Given the description of an element on the screen output the (x, y) to click on. 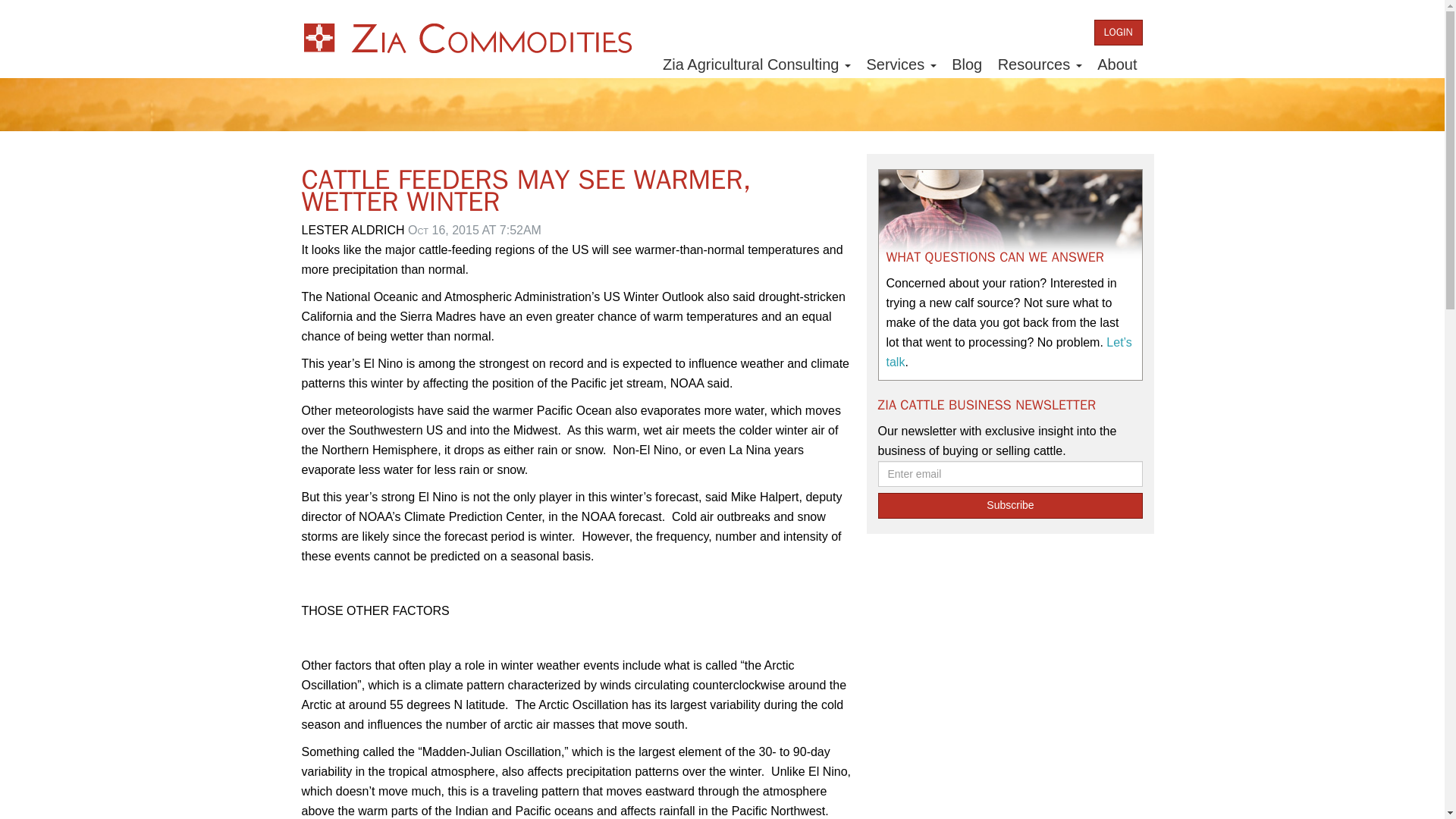
Resources (1039, 64)
Services (901, 64)
Services (901, 64)
LOGIN (1118, 32)
About (1116, 64)
Resources (1039, 64)
About (1116, 64)
Subscribe (1009, 505)
Zia Agricultural Consulting (756, 64)
Blog (966, 64)
Blog (966, 64)
Zia Agricultural Consulting (756, 64)
